Given the description of an element on the screen output the (x, y) to click on. 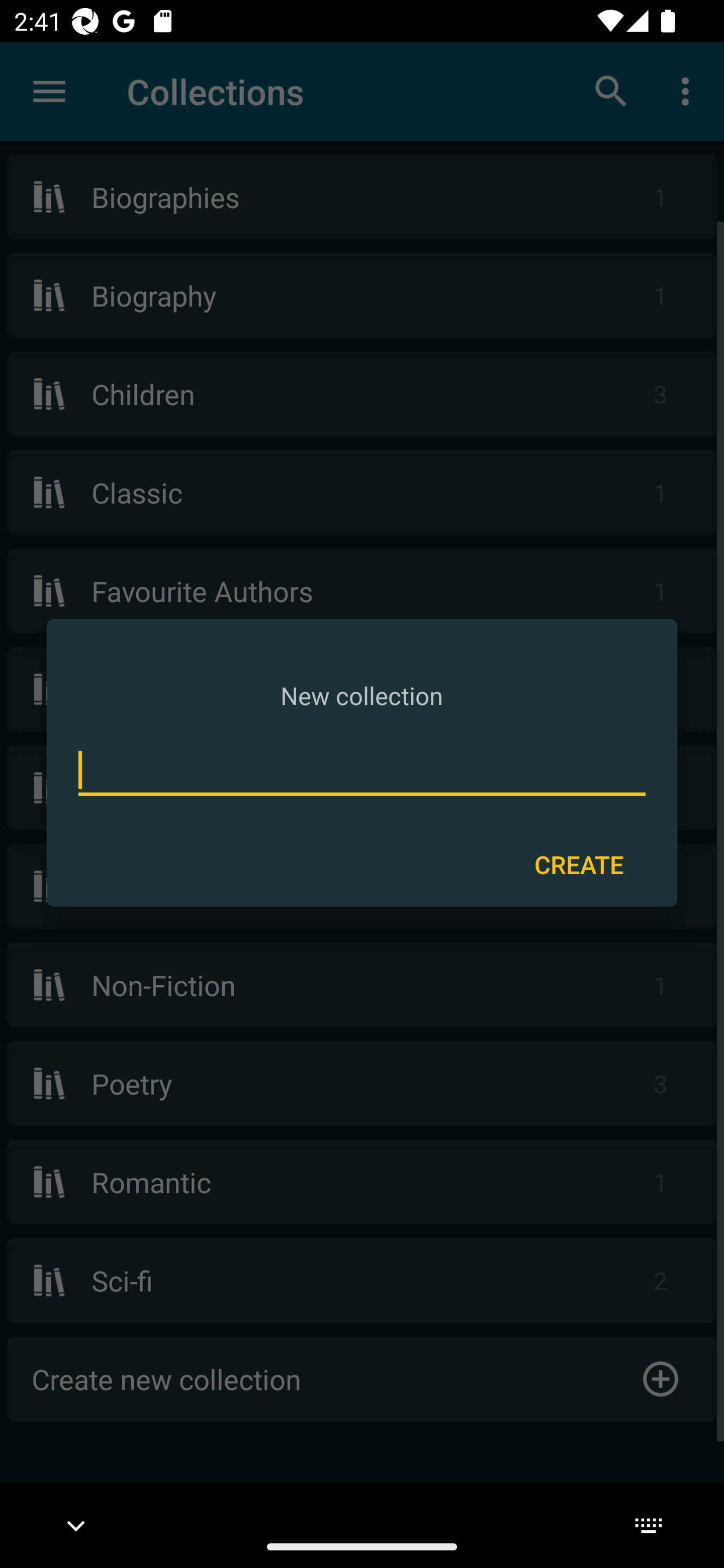
CREATE (578, 863)
